Given the description of an element on the screen output the (x, y) to click on. 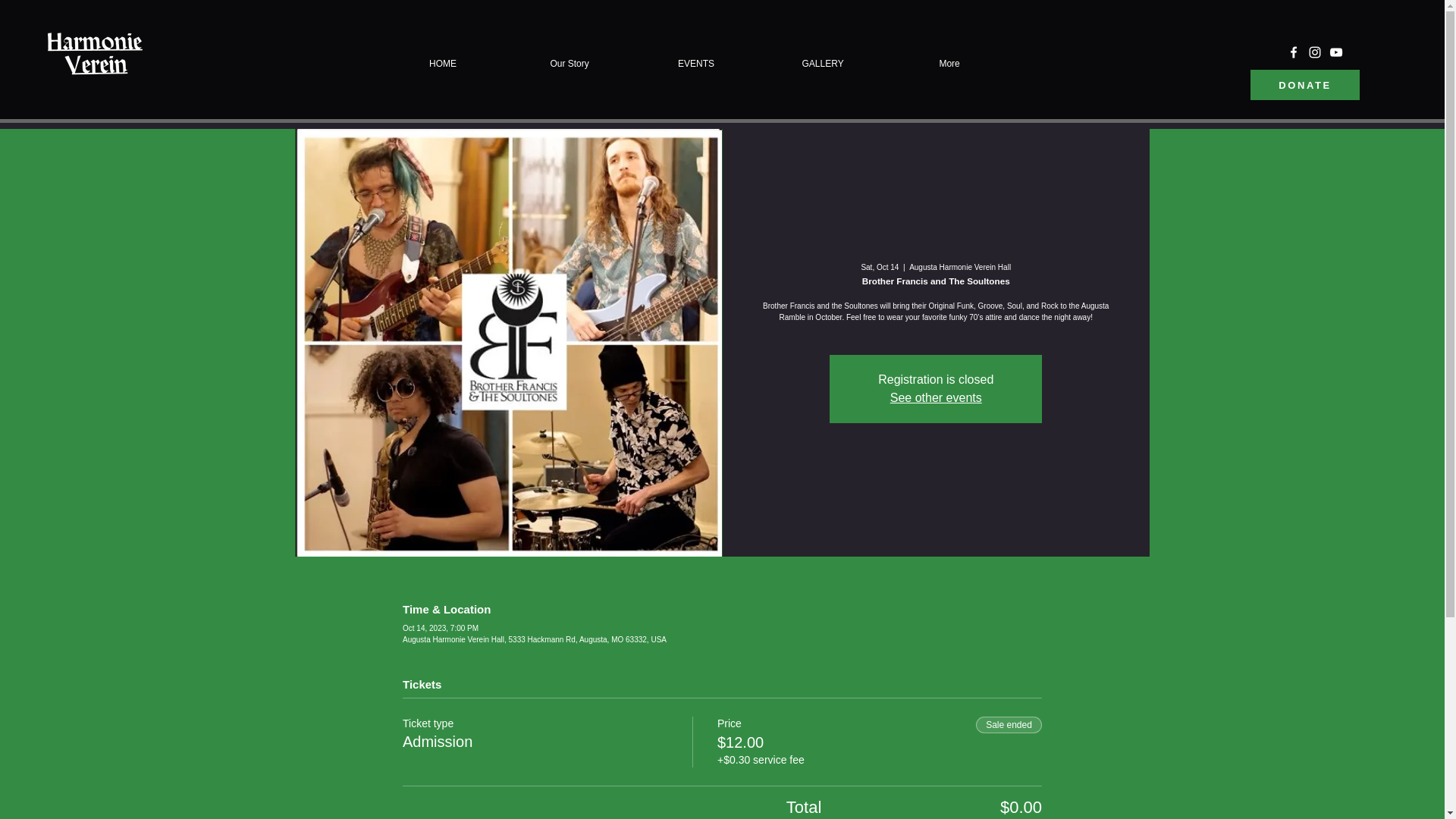
HOME (443, 63)
GALLERY (823, 63)
Our Story (569, 63)
EVENTS (696, 63)
See other events (935, 397)
DONATE (1304, 84)
